Given the description of an element on the screen output the (x, y) to click on. 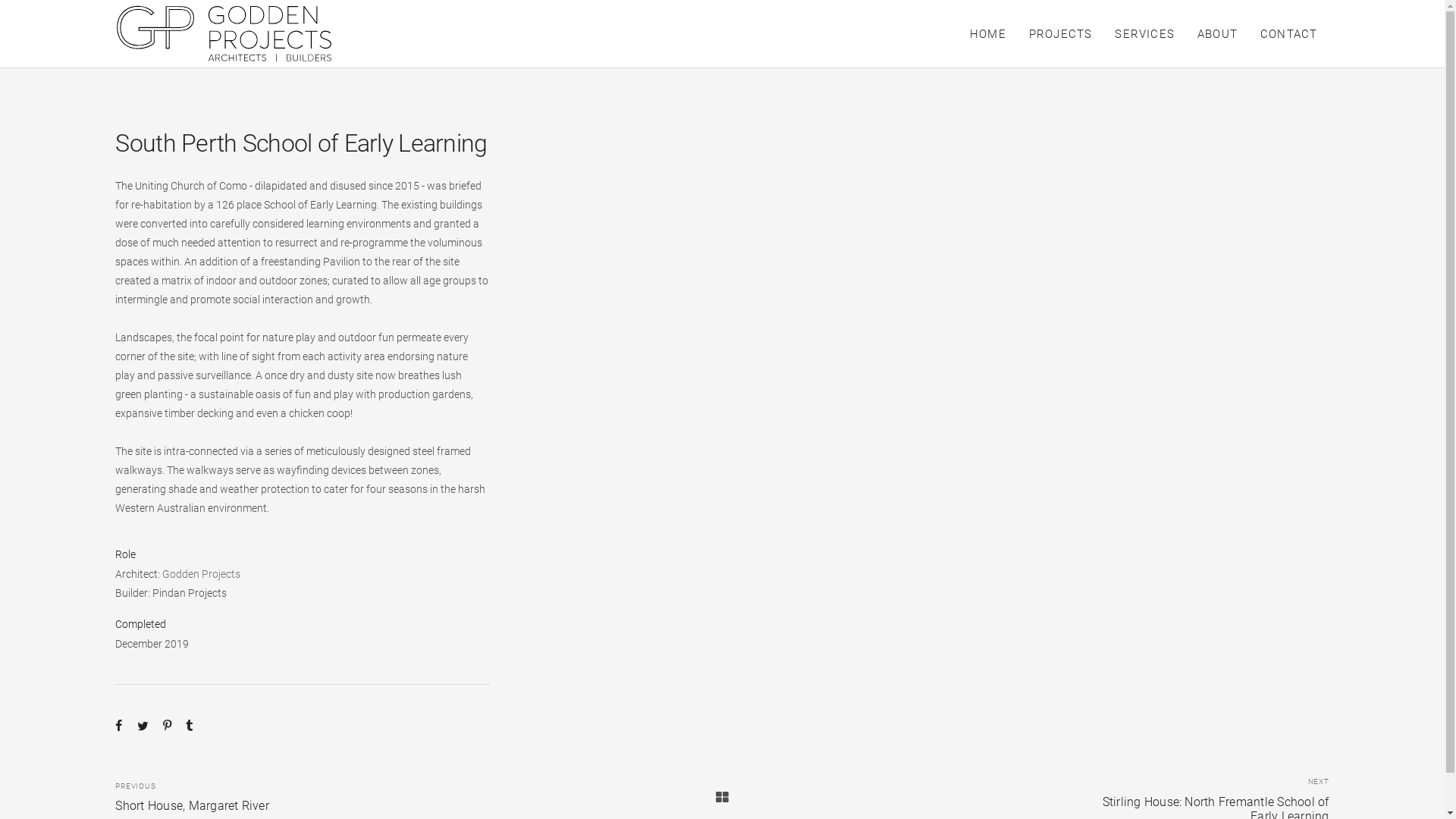
PROJECTS Element type: text (1060, 33)
Godden Projects Element type: text (201, 573)
SERVICES Element type: text (1144, 33)
HOME Element type: text (987, 33)
ABOUT Element type: text (1217, 33)
002 (2) Element type: hover (928, 355)
CONTACT Element type: text (1288, 33)
